Given the description of an element on the screen output the (x, y) to click on. 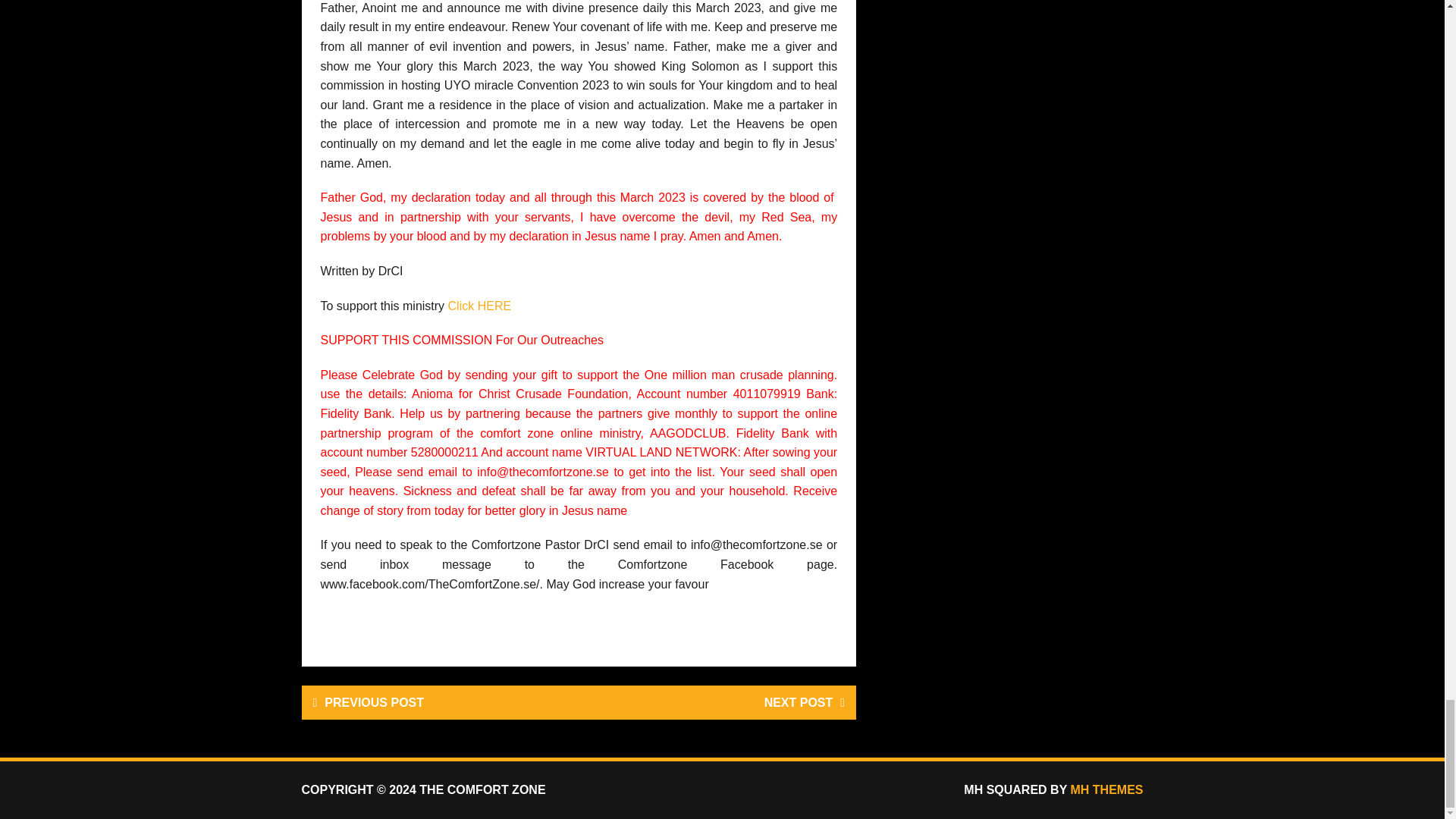
NEXT POST (717, 702)
Click HERE (480, 305)
MH THEMES (1106, 789)
PREVIOUS POST (440, 702)
